Given the description of an element on the screen output the (x, y) to click on. 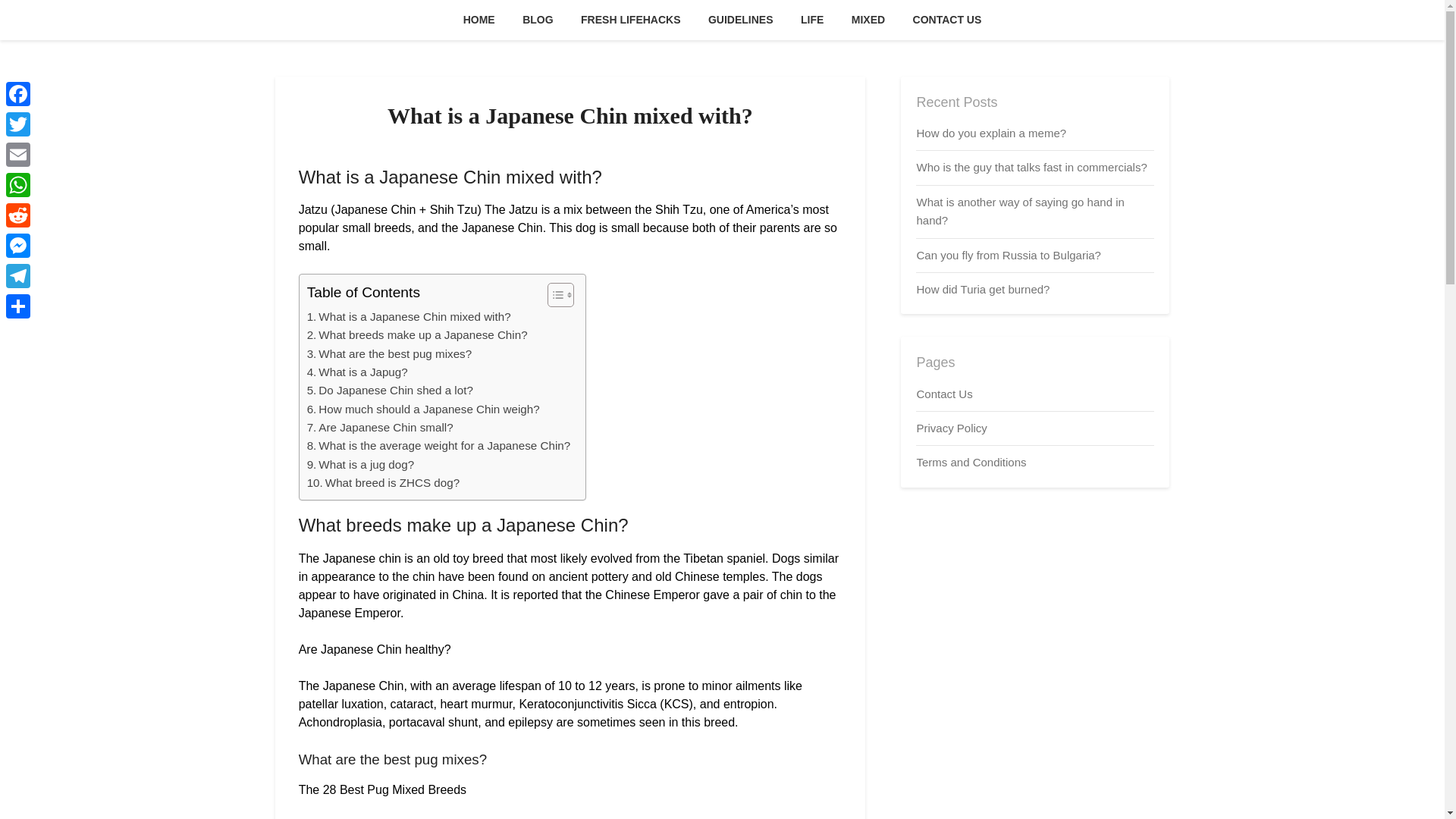
Contact Us (943, 392)
What breeds make up a Japanese Chin? (417, 334)
Terms and Conditions (970, 461)
Facebook (17, 93)
Are Japanese Chin small? (379, 427)
What is the average weight for a Japanese Chin? (438, 445)
What is a Japanese Chin mixed with? (409, 316)
What breeds make up a Japanese Chin? (417, 334)
What is a jug dog? (360, 464)
Do Japanese Chin shed a lot? (390, 390)
CONTACT US (947, 20)
Are Japanese Chin small? (379, 427)
Do Japanese Chin shed a lot? (390, 390)
Can you fly from Russia to Bulgaria? (1007, 254)
Privacy Policy (951, 427)
